Given the description of an element on the screen output the (x, y) to click on. 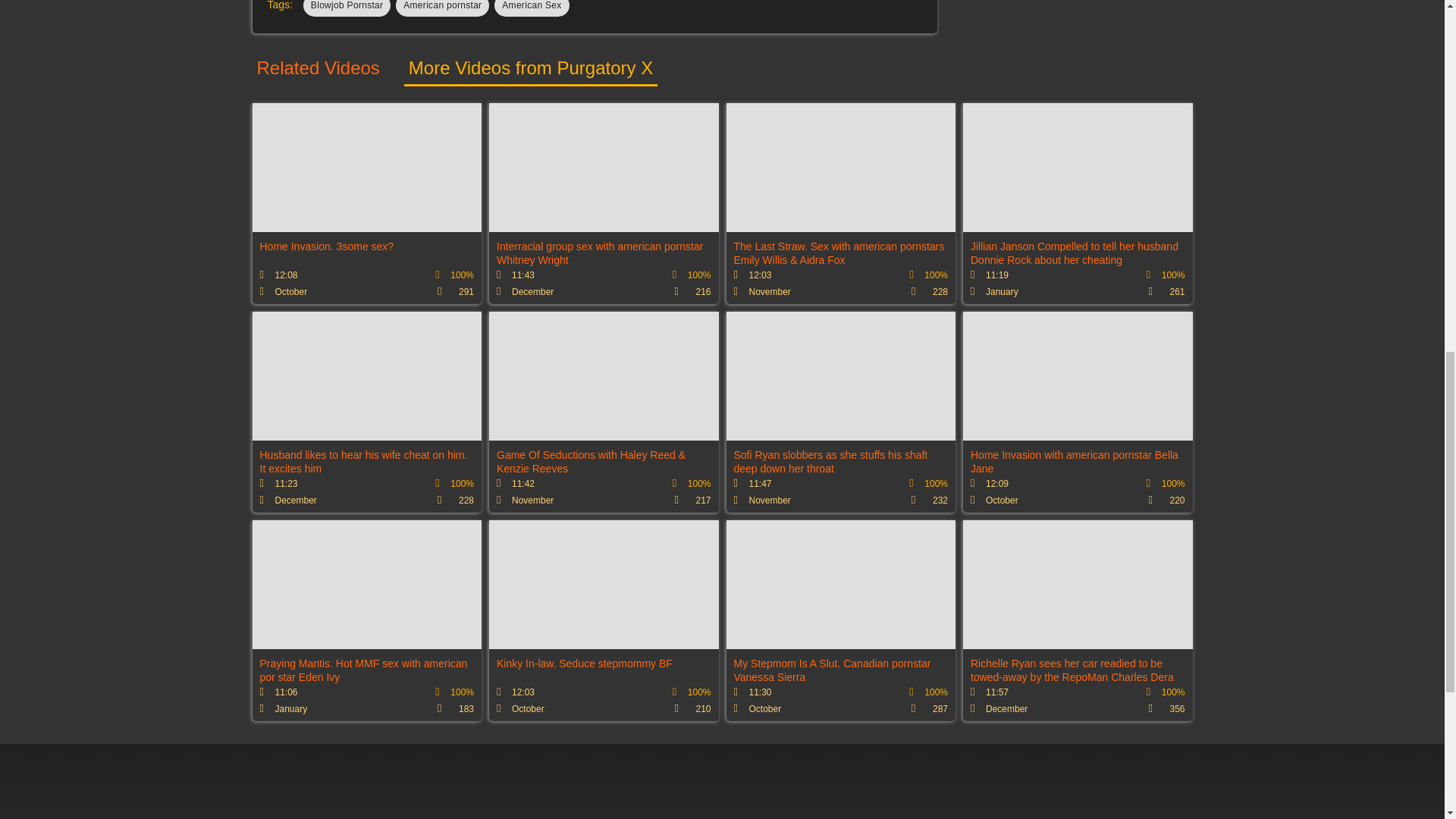
Home Invasion with american pornstar Bella Jane (1077, 412)
Home Invasion. 3some sex? (366, 203)
American pornstar (442, 8)
Husband likes to hear his wife cheat on him. It excites him (366, 412)
Praying Mantis. Hot MMF sex with american por star Eden Ivy (366, 620)
American Sex (532, 8)
Blowjob Pornstar (346, 8)
Kinky In-law. Seduce stepmommy BF (604, 620)
Related Videos (317, 71)
My Stepmom Is A Slut. Canadian pornstar Vanessa Sierra (841, 620)
Interracial group sex with american pornstar Whitney Wright (604, 203)
